Given the description of an element on the screen output the (x, y) to click on. 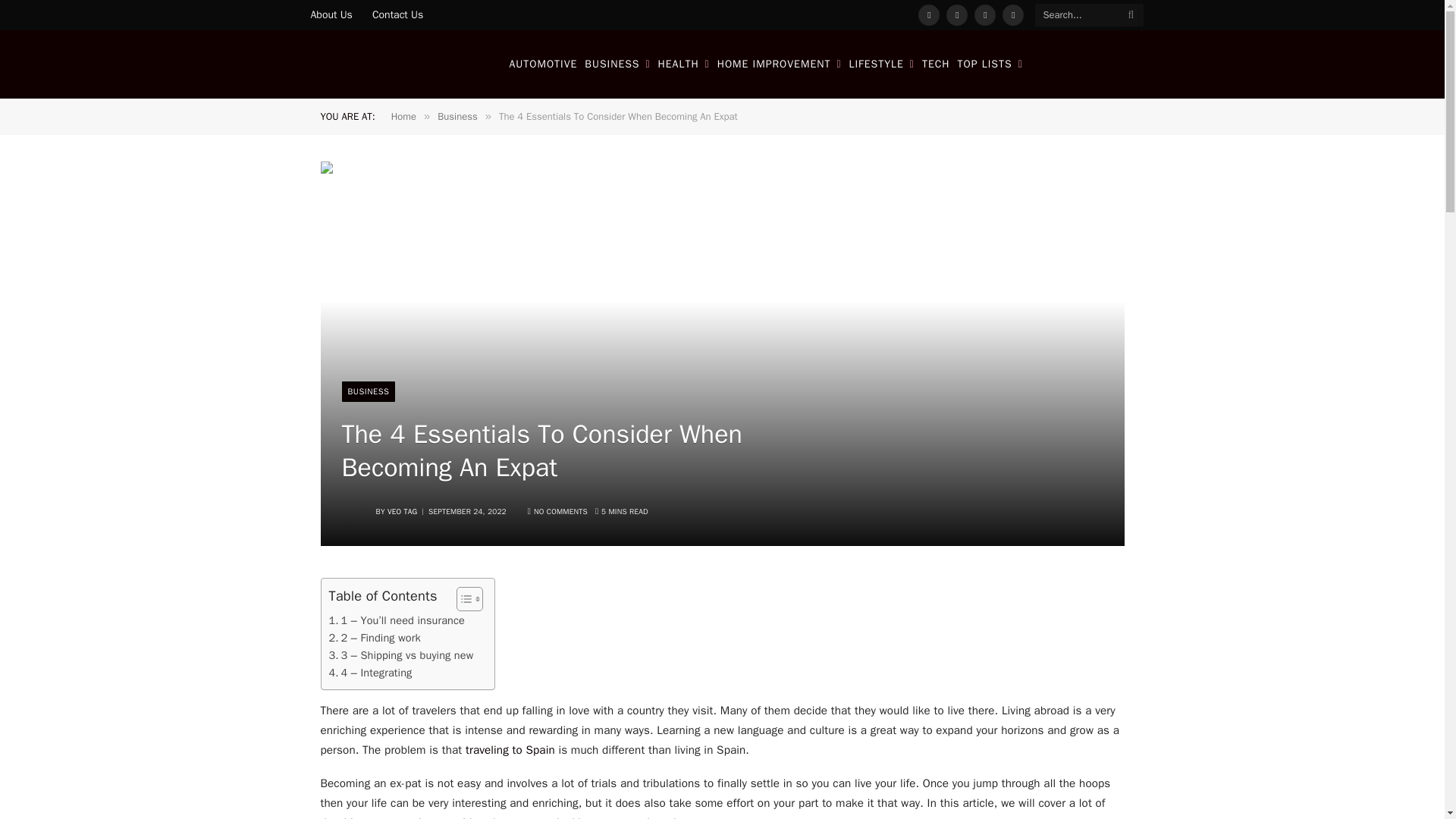
Contact Us (397, 15)
Veo Tag (389, 64)
Facebook (928, 14)
Posts by Veo Tag (401, 511)
Pinterest (1013, 14)
Instagram (984, 14)
About Us (330, 15)
